Given the description of an element on the screen output the (x, y) to click on. 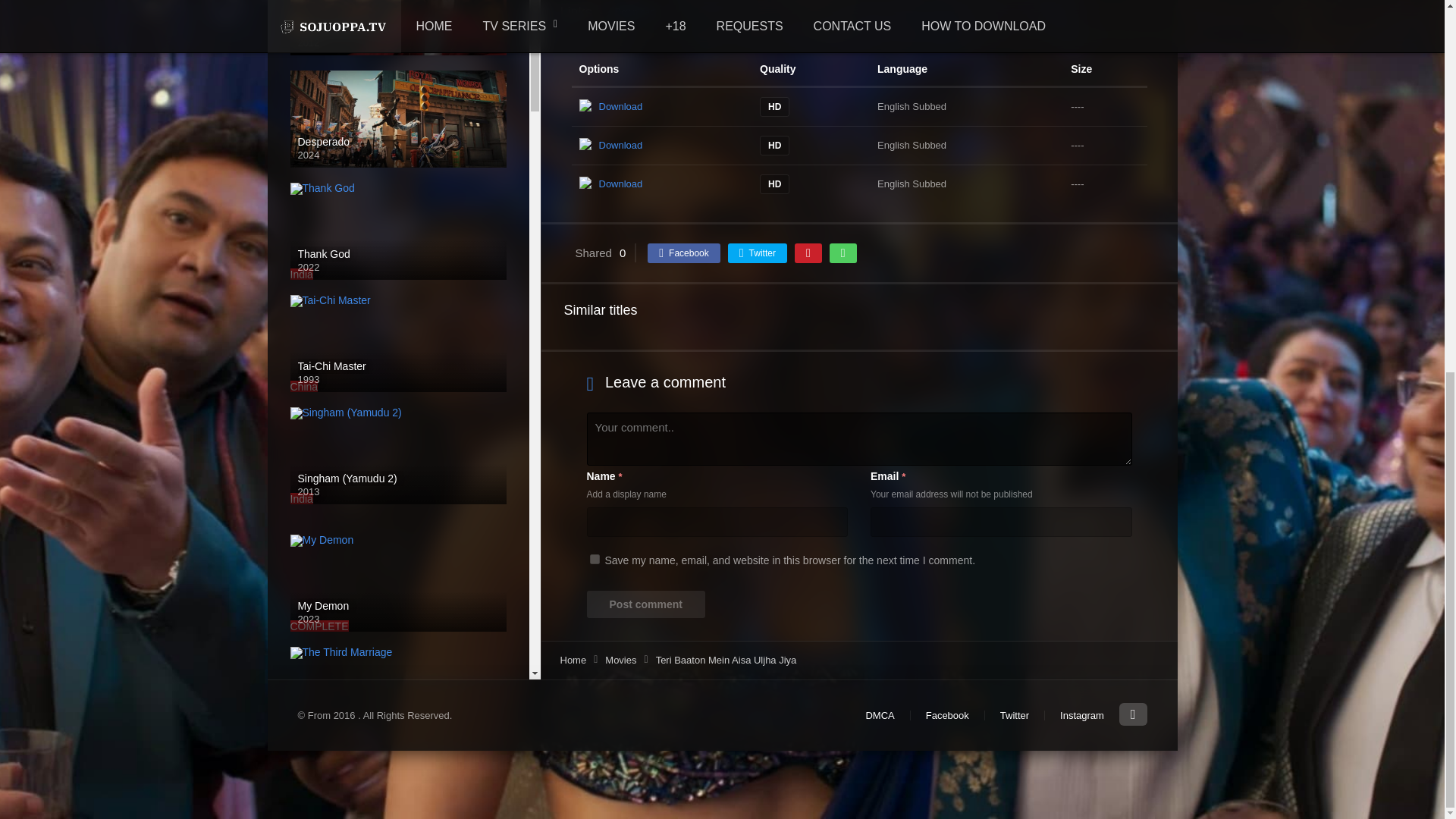
Post comment (645, 604)
yes (594, 559)
